Given the description of an element on the screen output the (x, y) to click on. 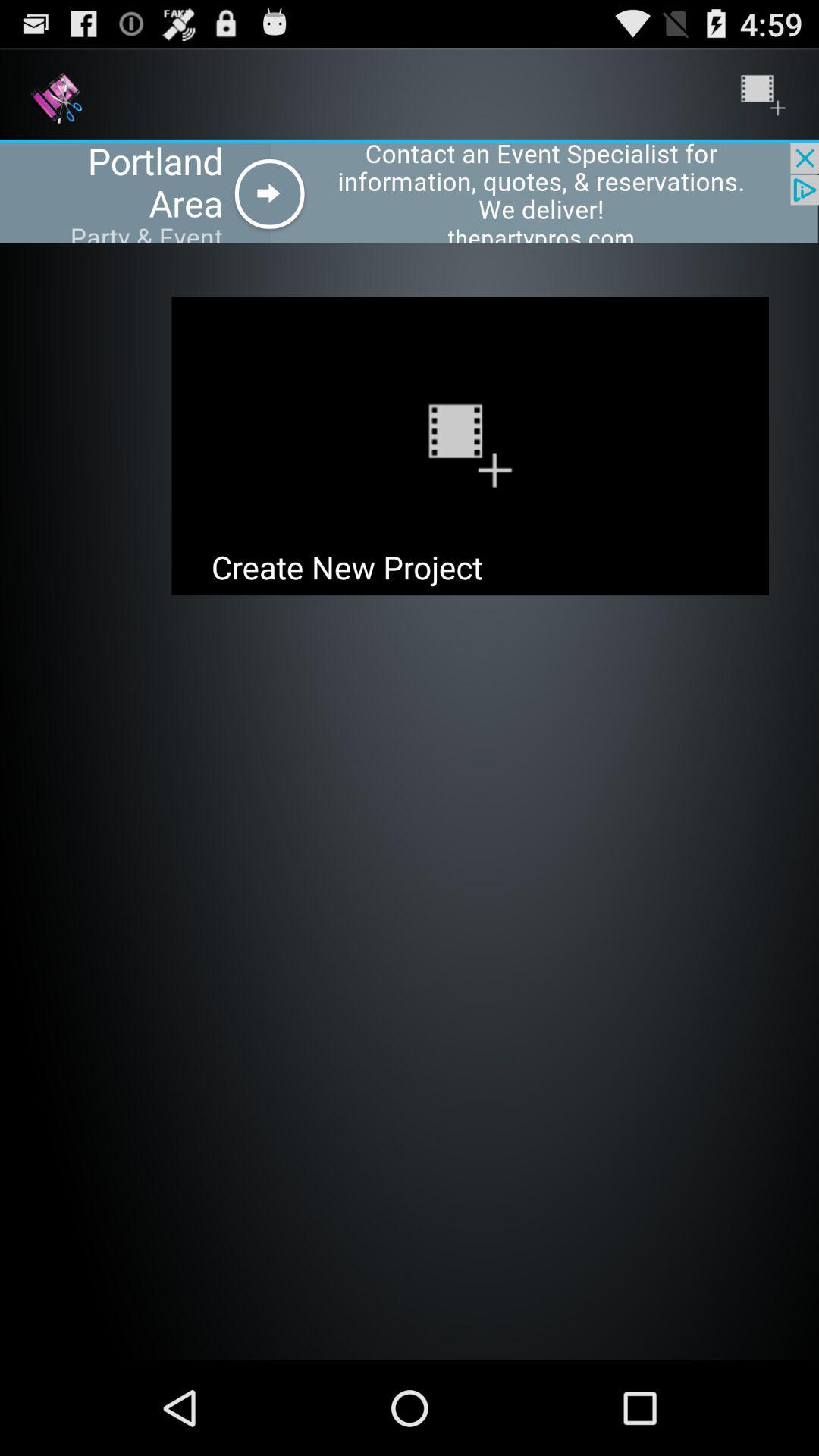
go to advertisement (409, 192)
